Given the description of an element on the screen output the (x, y) to click on. 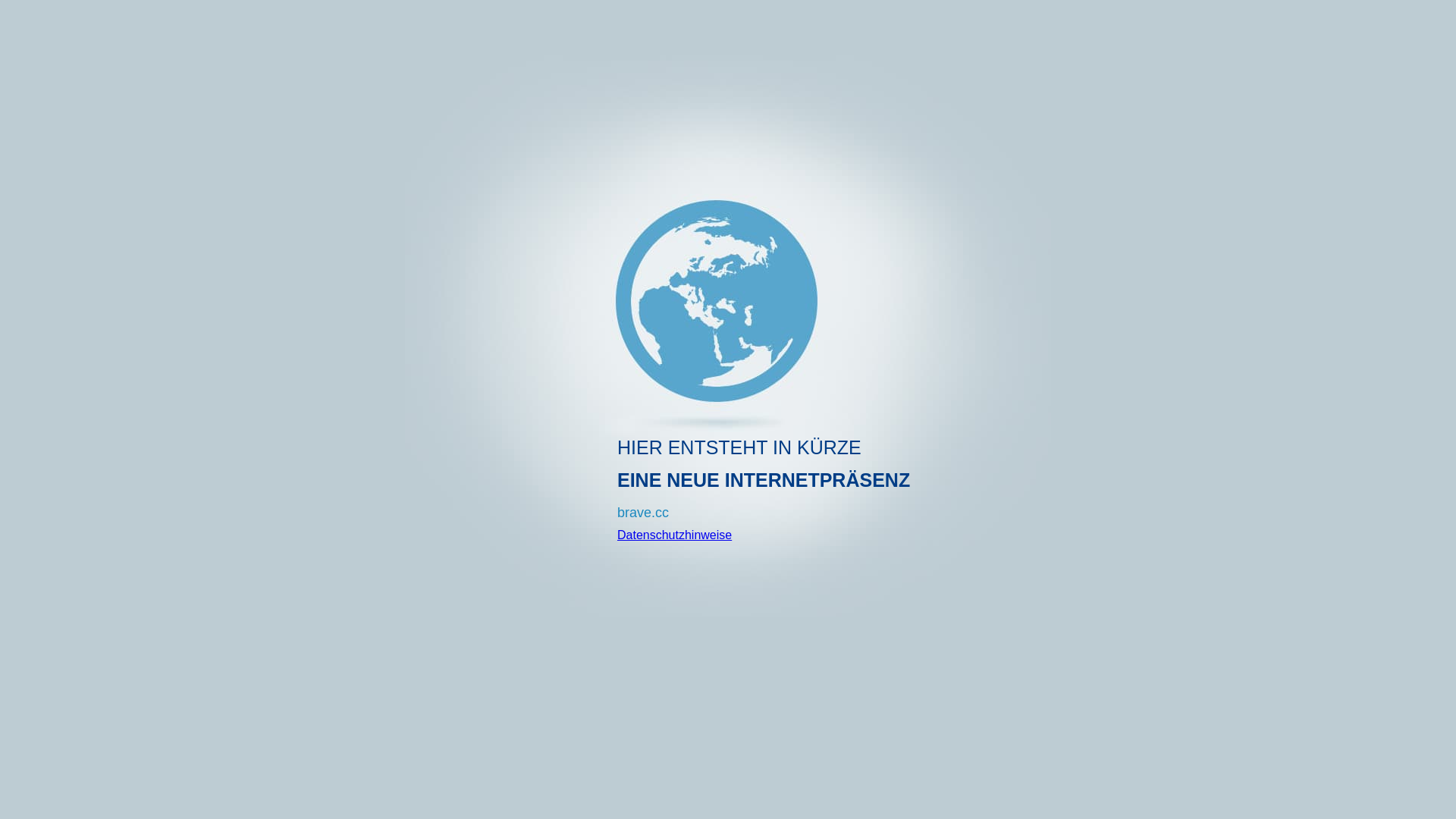
Datenschutzhinweise Element type: text (674, 535)
